Given the description of an element on the screen output the (x, y) to click on. 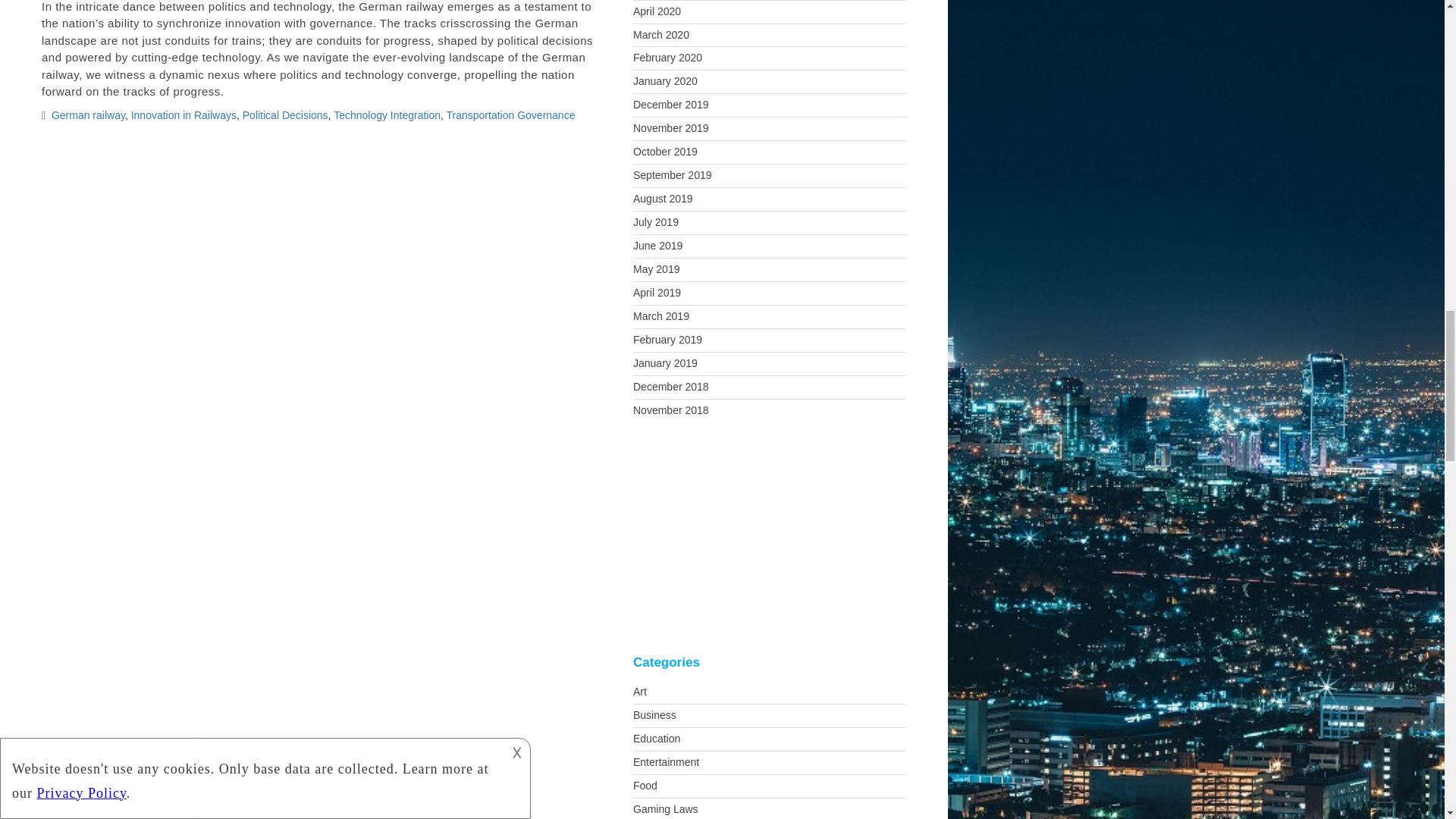
Transportation Governance (510, 114)
Innovation in Railways (183, 114)
German railway (87, 114)
Technology Integration (387, 114)
Political Decisions (286, 114)
